Given the description of an element on the screen output the (x, y) to click on. 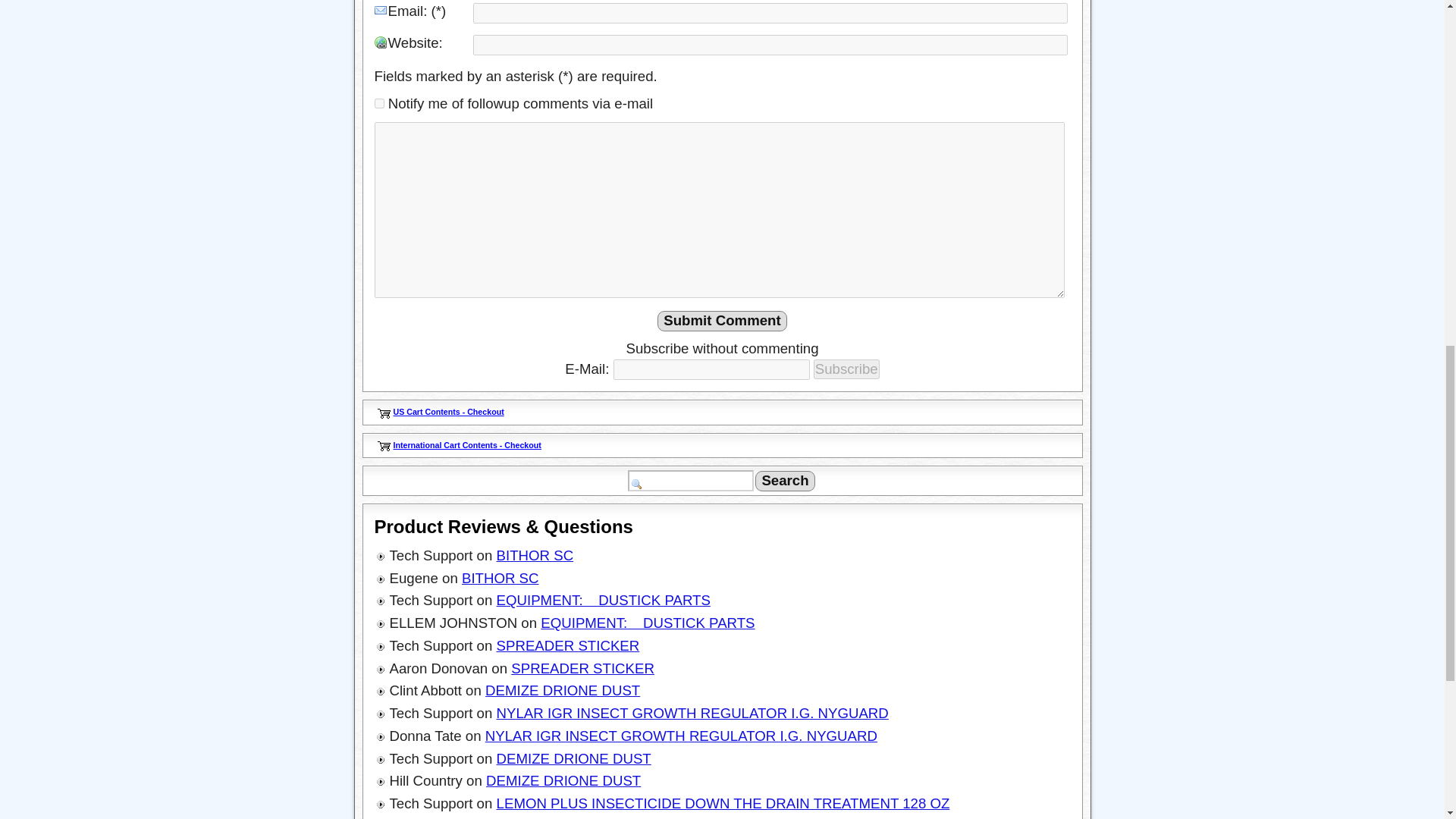
NYLAR IGR INSECT GROWTH REGULATOR I.G. NYGUARD (692, 713)
SPREADER STICKER (582, 668)
EQUIPMENT:    DUSTICK PARTS (603, 600)
NYLAR IGR INSECT GROWTH REGULATOR I.G. NYGUARD (680, 735)
International Cart Contents - Checkout (466, 444)
Subscribe (846, 369)
Submit Comment (722, 321)
Submit Comment (722, 321)
US Cart Contents - Checkout (448, 411)
SPREADER STICKER (568, 645)
BITHOR SC (499, 578)
subscribe (379, 103)
DEMIZE DRIONE DUST (562, 690)
LEMON PLUS INSECTICIDE DOWN THE DRAIN TREATMENT 128 OZ (723, 803)
